Given the description of an element on the screen output the (x, y) to click on. 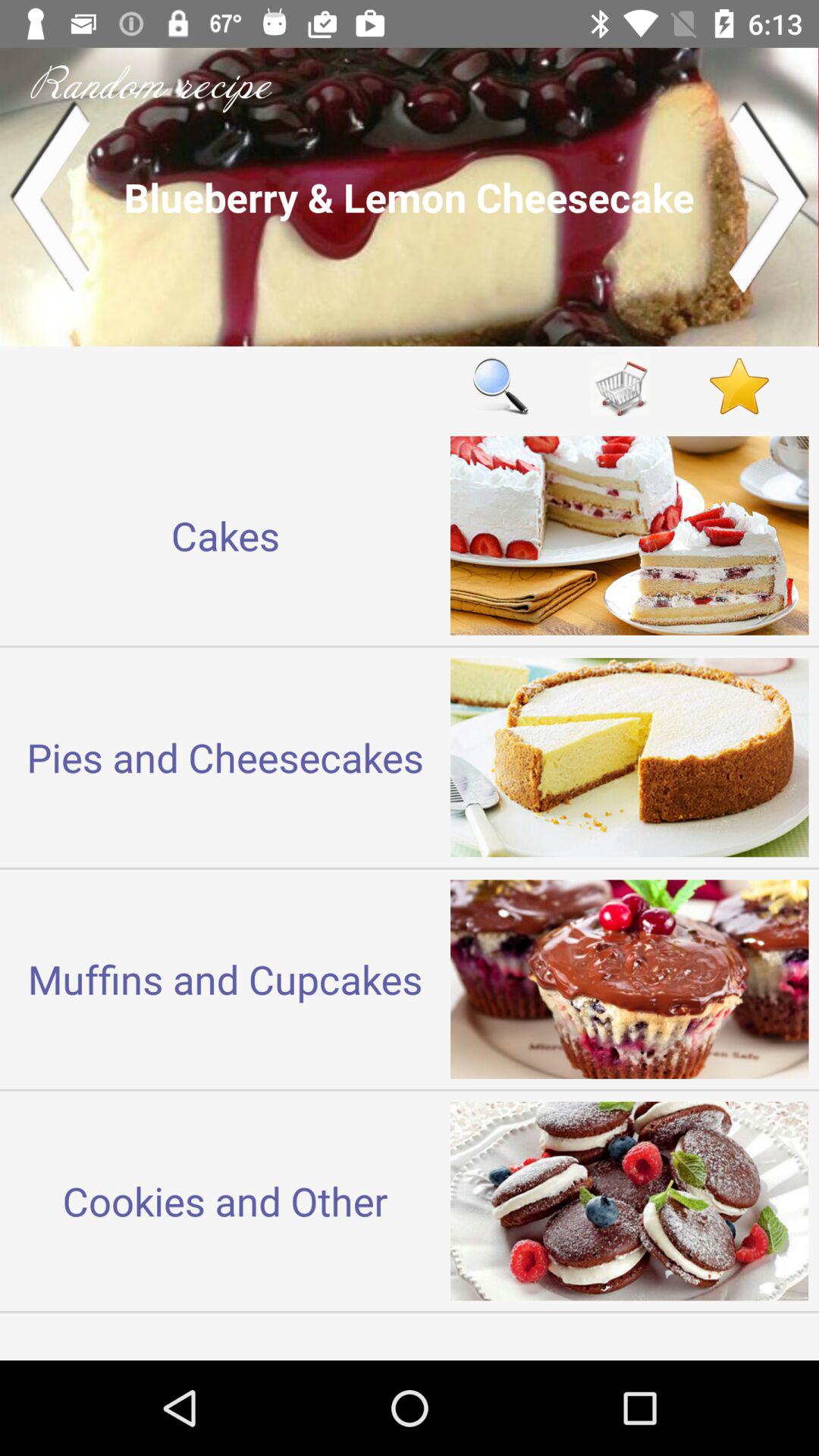
add the receipes into the shopping cart (619, 385)
